Given the description of an element on the screen output the (x, y) to click on. 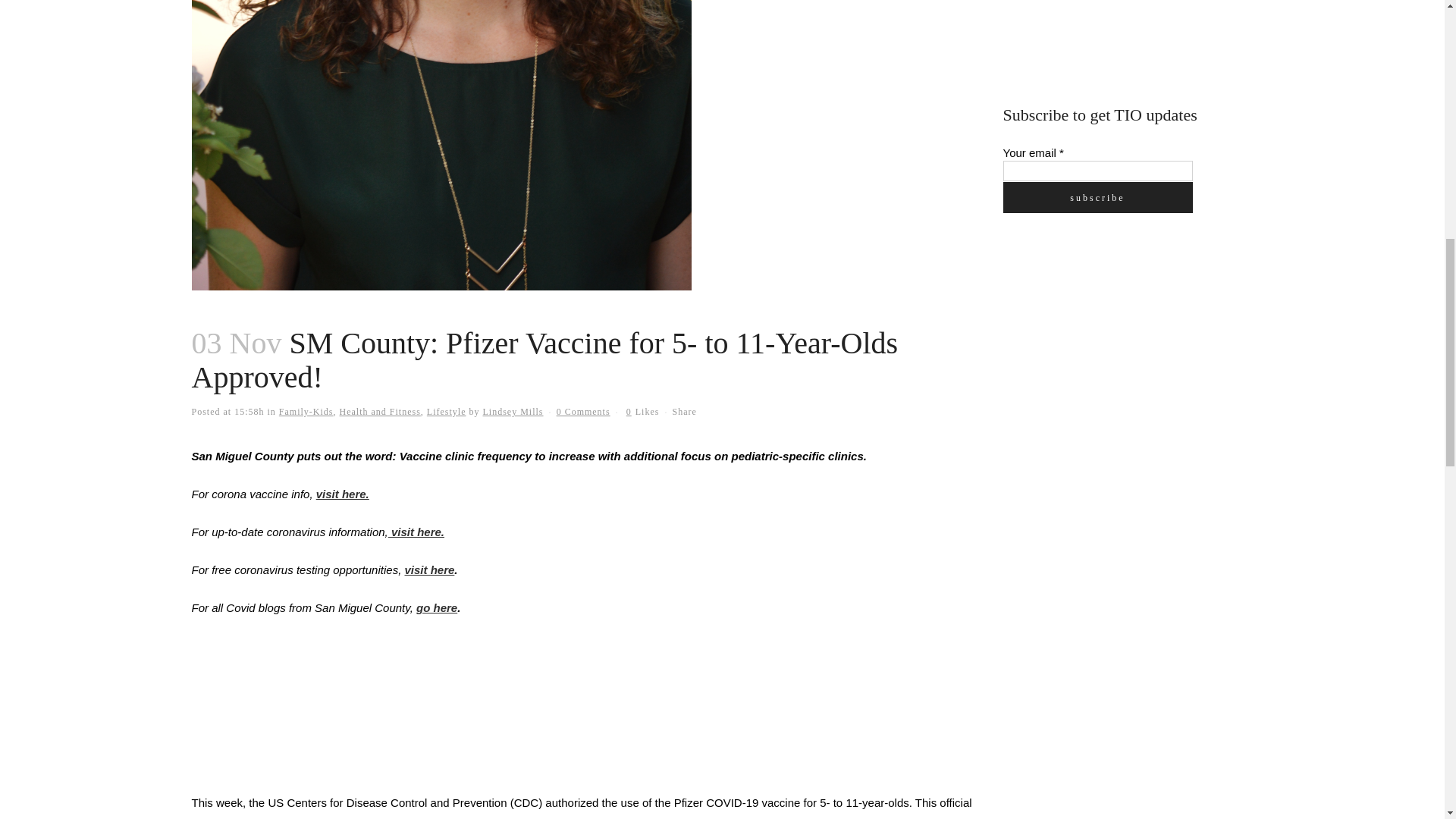
Subscribe (1097, 196)
3rd party ad content (1116, 35)
Like this (642, 411)
3rd party ad content (1116, 339)
Your email (1097, 170)
